Given the description of an element on the screen output the (x, y) to click on. 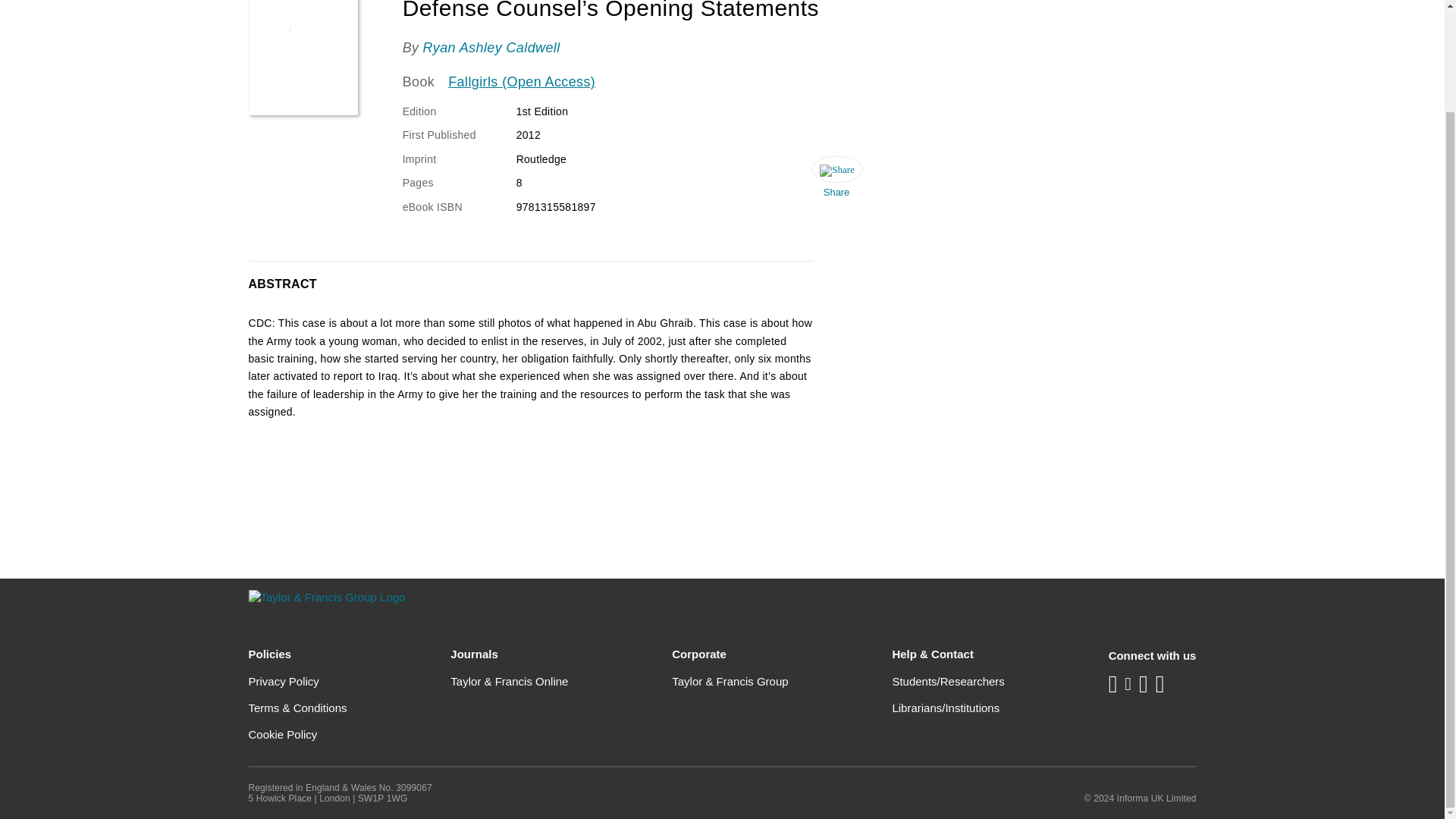
Ryan Ashley Caldwell (490, 47)
Privacy Policy (283, 681)
Cookie Policy (282, 734)
Share (836, 181)
